Given the description of an element on the screen output the (x, y) to click on. 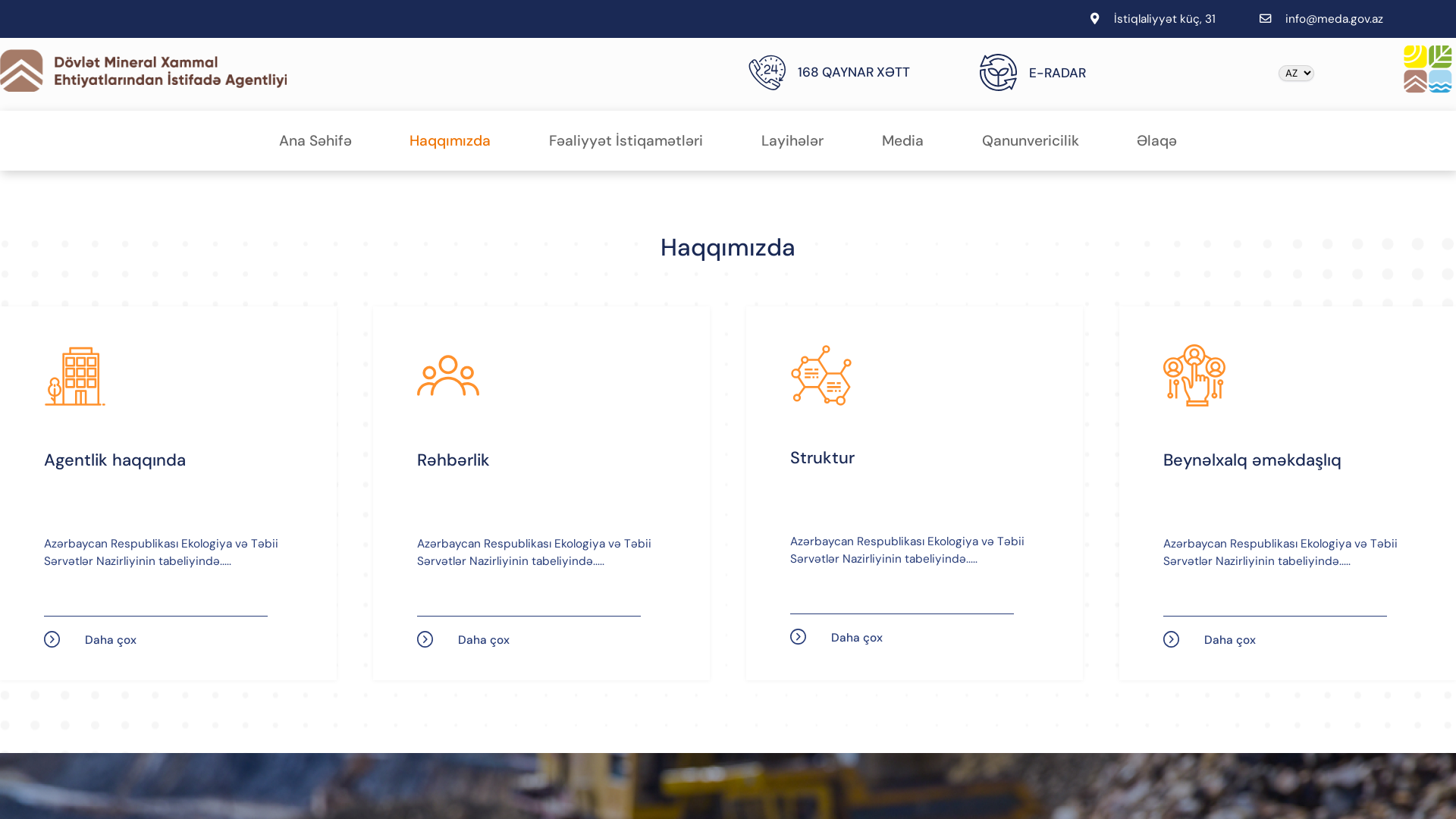
info@meda.gov.az Element type: text (1334, 18)
Media Element type: text (902, 140)
E-RADAR Element type: text (1082, 72)
Qanunvericilik Element type: text (1030, 140)
